Given the description of an element on the screen output the (x, y) to click on. 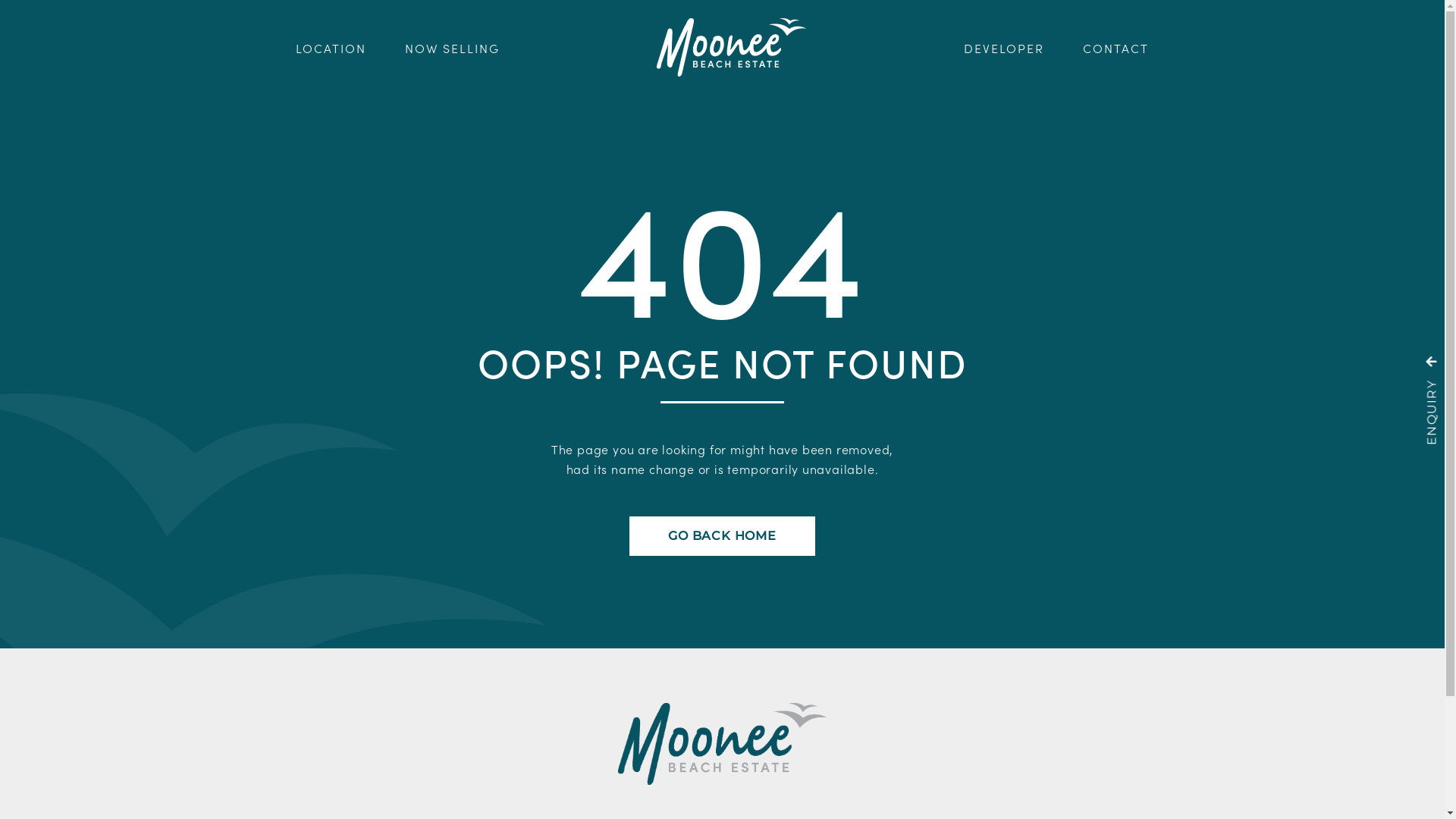
DEVELOPER Element type: text (1003, 46)
CONTACT Element type: text (1115, 46)
LOCATION Element type: text (330, 46)
NOW SELLING Element type: text (451, 46)
GO BACK HOME Element type: text (721, 535)
Submit Element type: text (1118, 471)
